Given the description of an element on the screen output the (x, y) to click on. 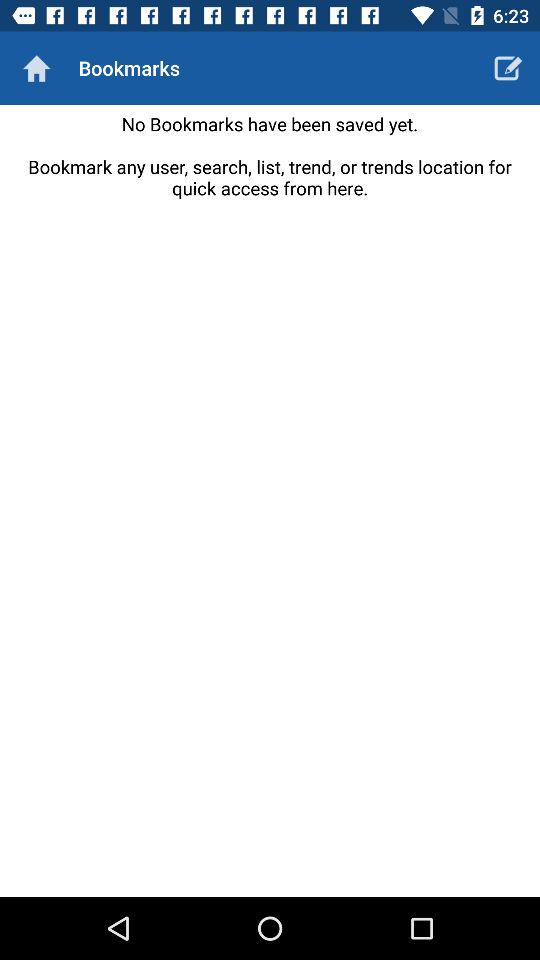
turn on the icon next to bookmarks icon (508, 67)
